Given the description of an element on the screen output the (x, y) to click on. 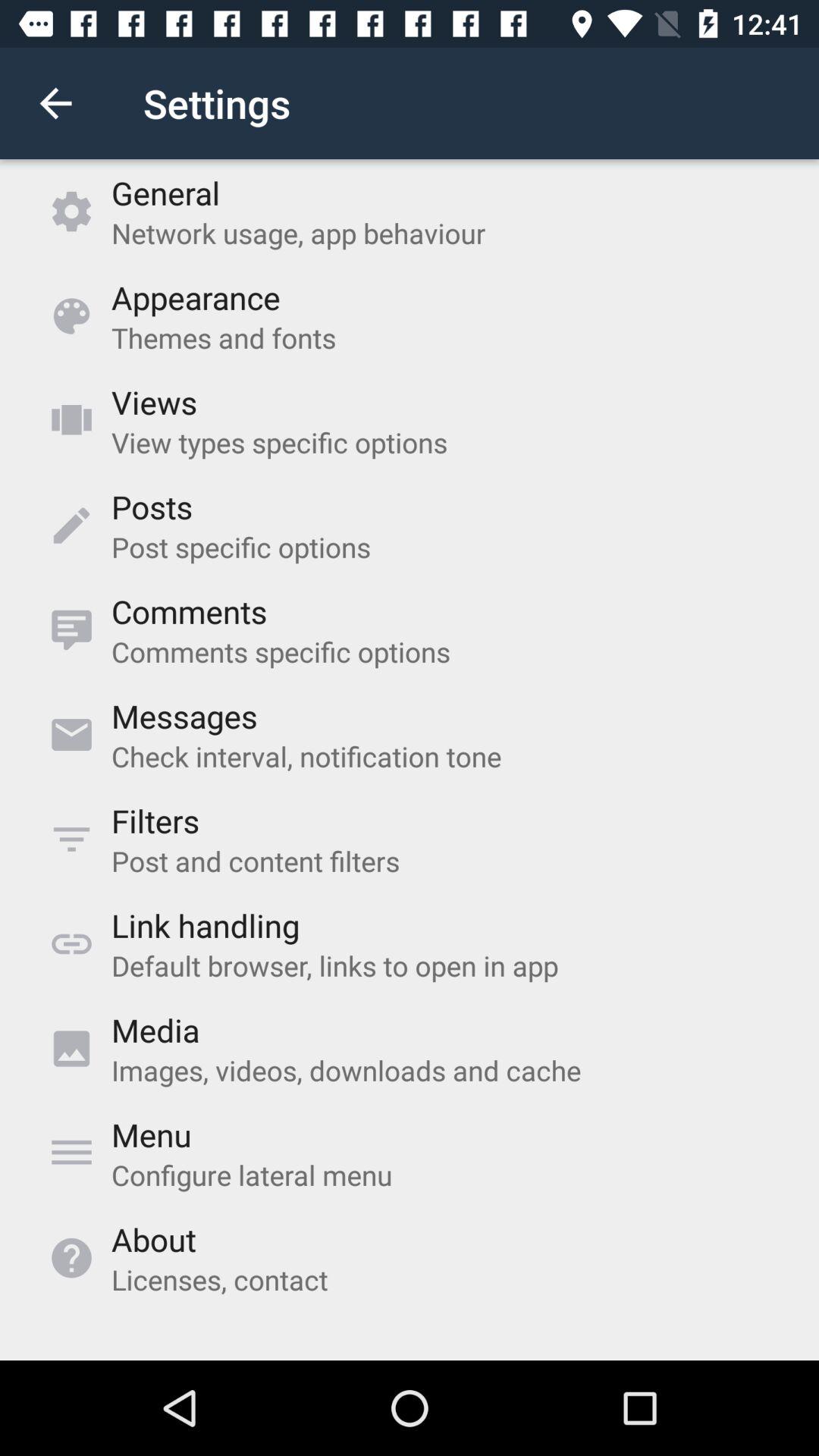
scroll to the general item (165, 192)
